Given the description of an element on the screen output the (x, y) to click on. 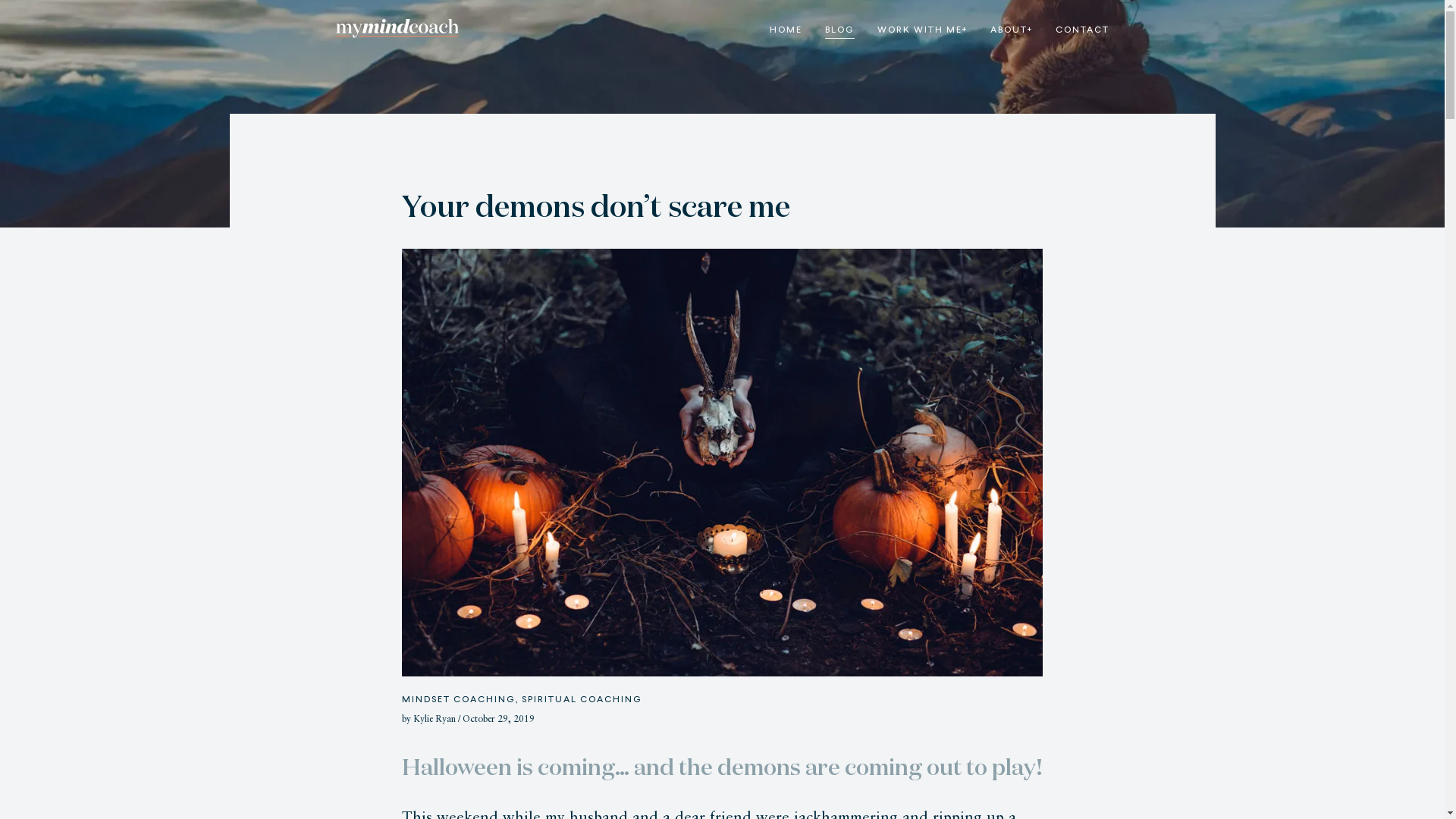
CONTACT Element type: text (1082, 30)
WORK WITH ME Element type: text (921, 30)
ABOUT Element type: text (1011, 30)
My Mind Coach Element type: hover (396, 28)
HOME Element type: text (784, 30)
SPIRITUAL COACHING Element type: text (581, 700)
MINDSET COACHING Element type: text (458, 700)
BLOG Element type: text (839, 30)
